Given the description of an element on the screen output the (x, y) to click on. 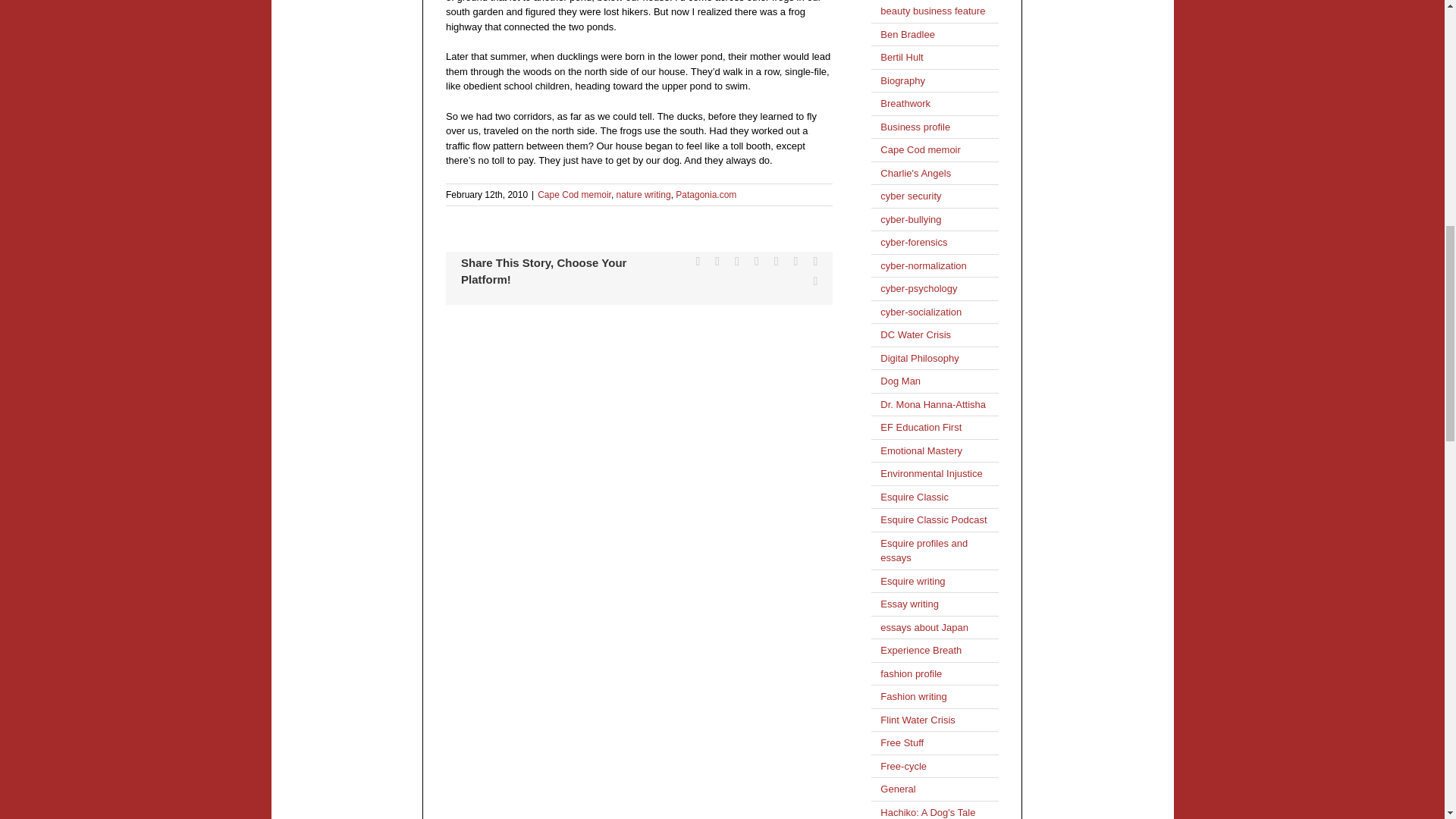
Cape Cod memoir (574, 194)
nature writing (643, 194)
Patagonia.com (705, 194)
